Given the description of an element on the screen output the (x, y) to click on. 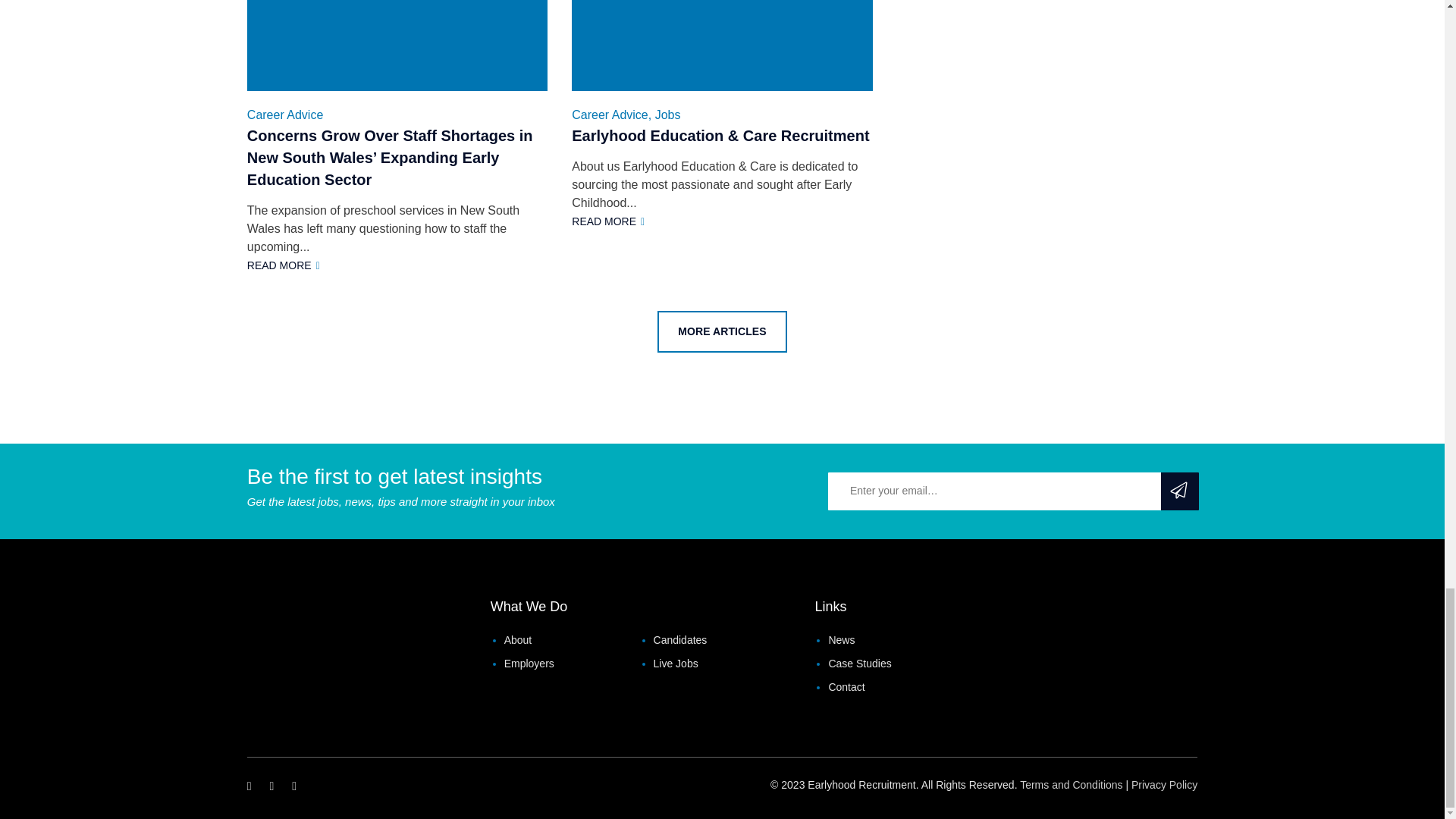
READ MORE (283, 264)
Send (397, 45)
